Given the description of an element on the screen output the (x, y) to click on. 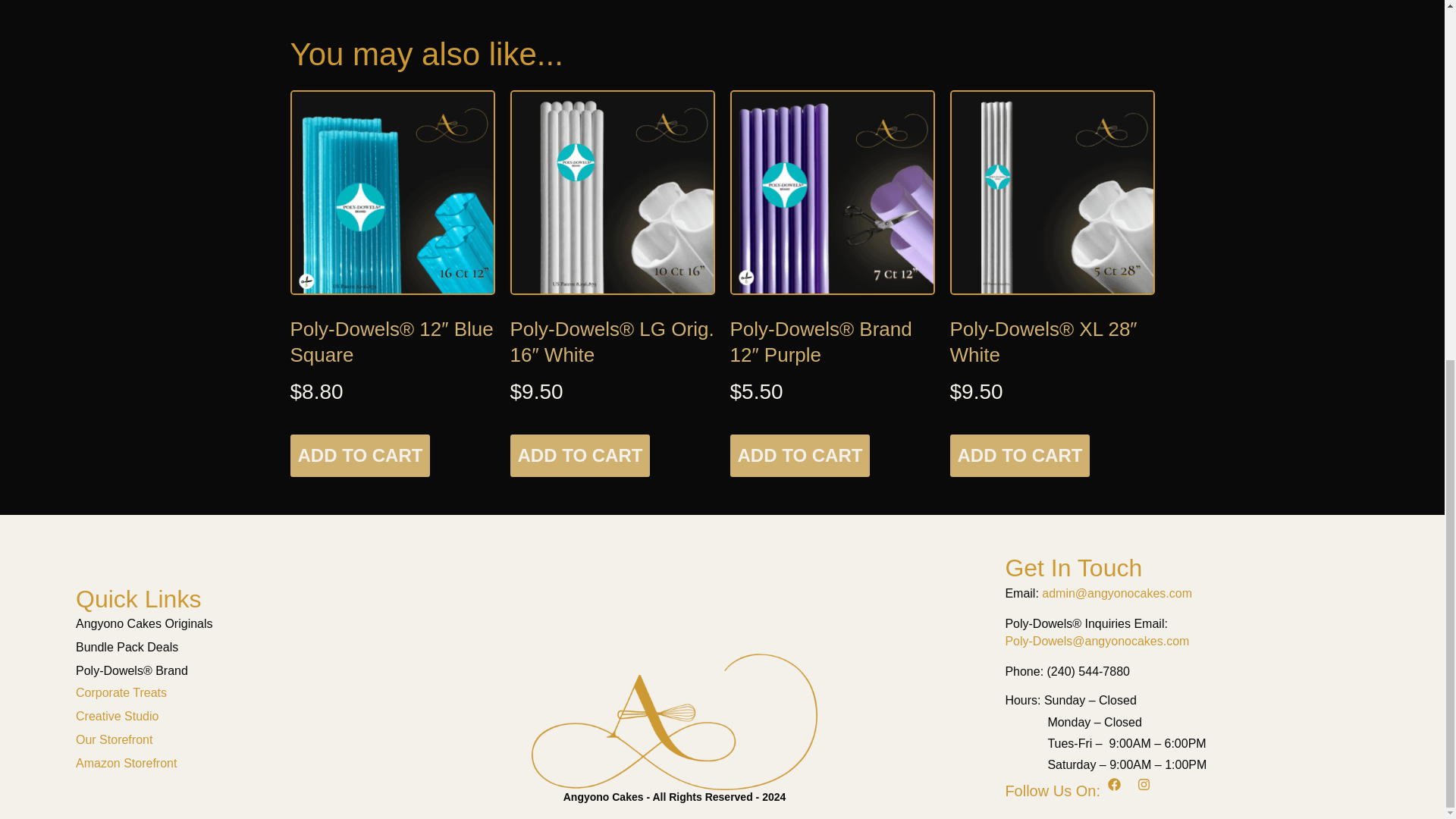
Our Storefront (231, 740)
ADD TO CART (359, 455)
ADD TO CART (579, 455)
Corporate Treats (231, 692)
ADD TO CART (1019, 455)
Amazon Storefront (231, 763)
ADD TO CART (799, 455)
Bundle Pack Deals (231, 647)
Creative Studio (231, 716)
Angyono Cakes Originals (231, 624)
